Given the description of an element on the screen output the (x, y) to click on. 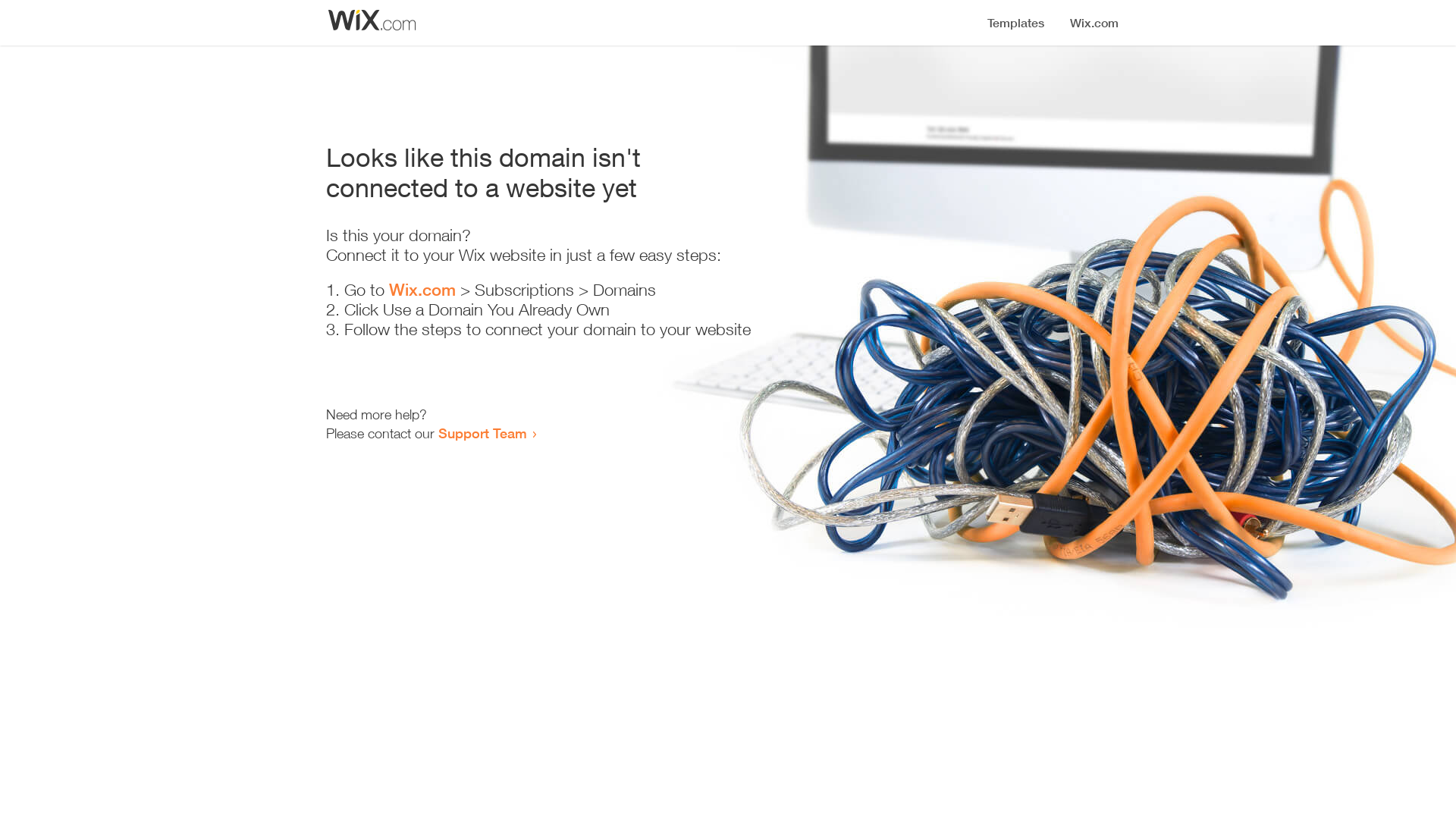
Wix.com Element type: text (422, 289)
Support Team Element type: text (482, 432)
